Given the description of an element on the screen output the (x, y) to click on. 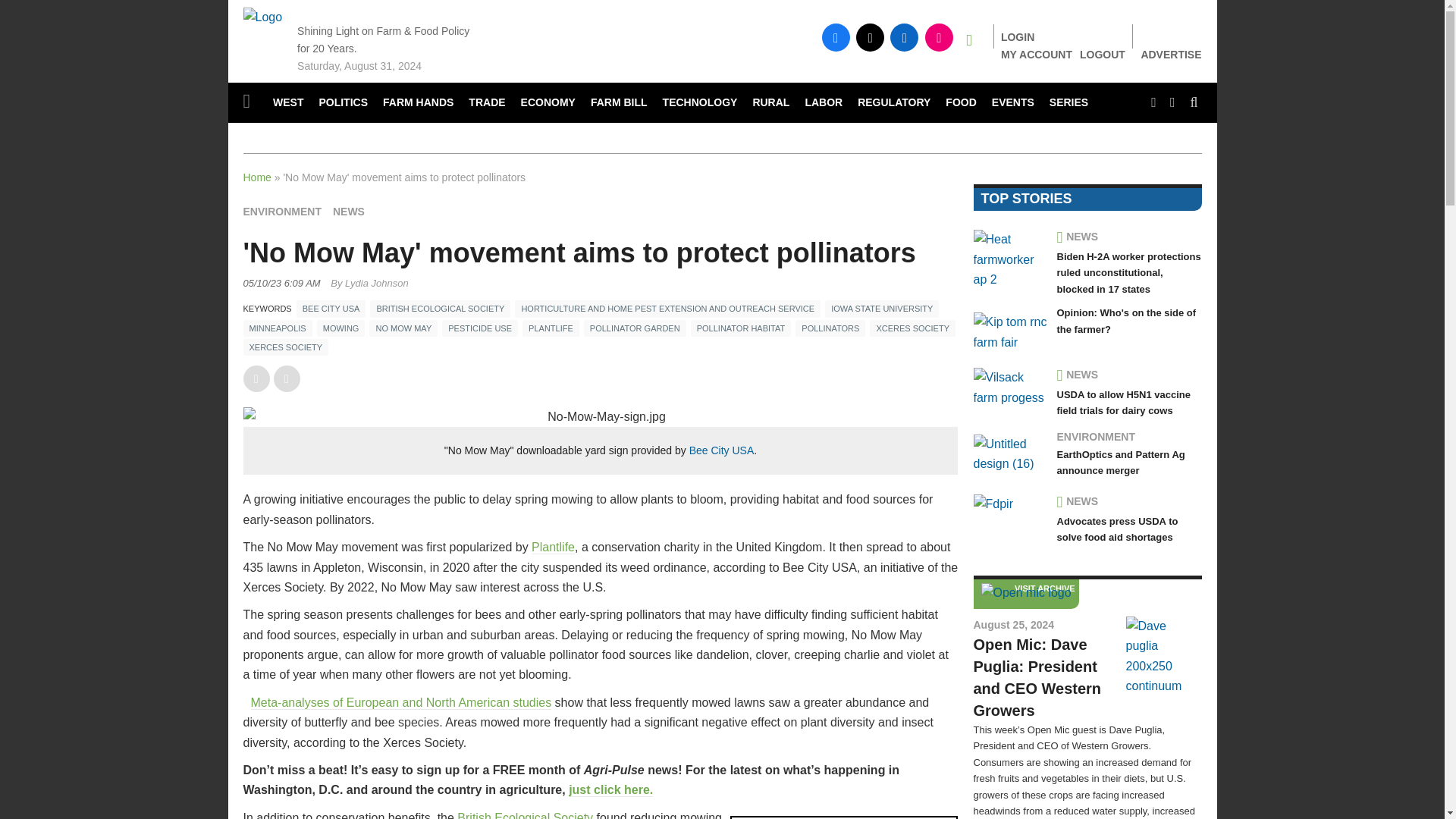
LOGIN (1017, 37)
FARM BILL (619, 102)
LABOR (823, 102)
WEST (287, 102)
MY ACCOUNT (1036, 54)
FARM HANDS (418, 102)
RURAL (770, 102)
LOGOUT (1102, 54)
TRADE (486, 102)
REGULATORY (893, 102)
